Given the description of an element on the screen output the (x, y) to click on. 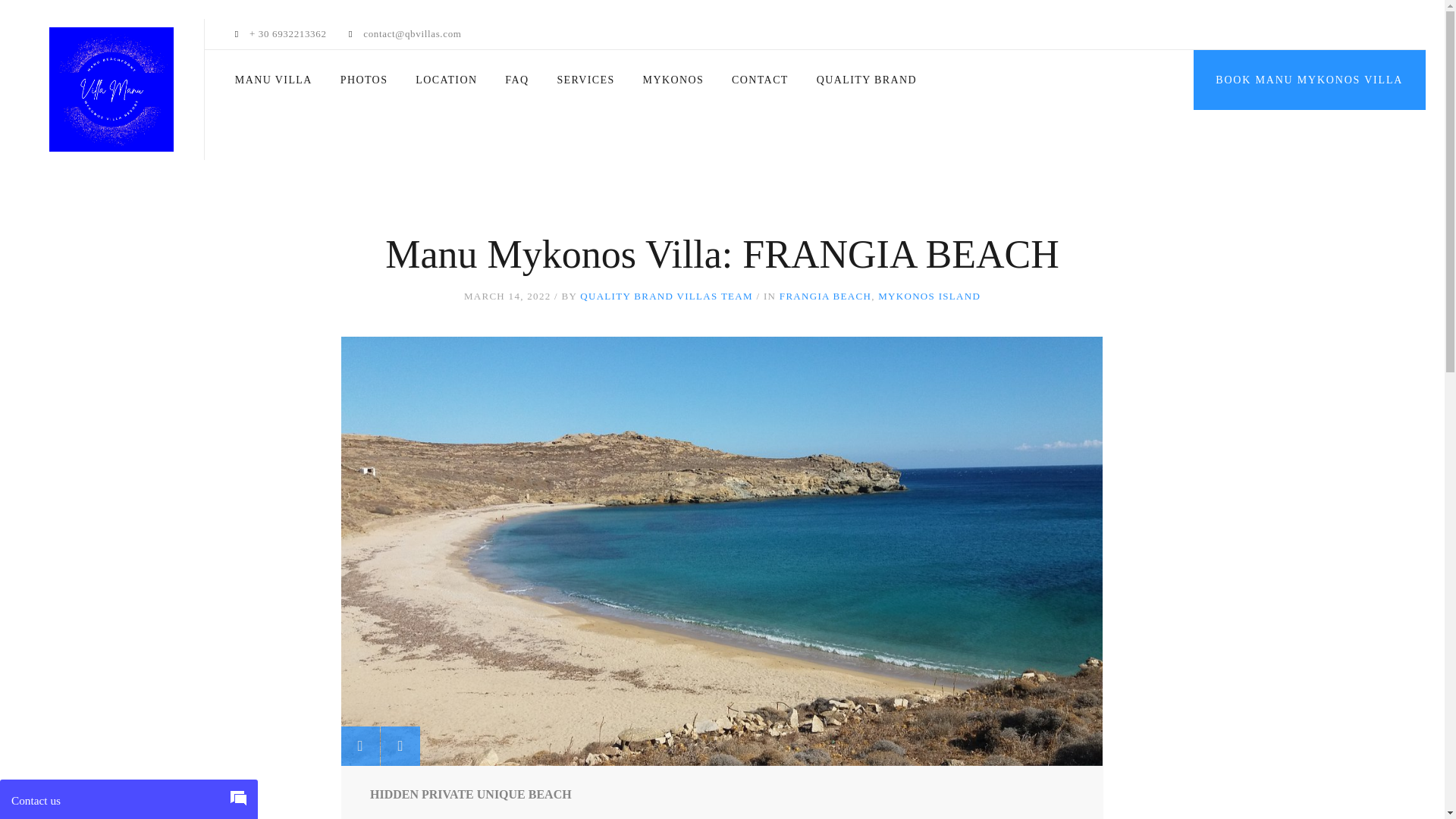
MANU VILLA (273, 79)
MYKONOS ISLAND (928, 296)
SERVICES (585, 79)
QUALITY BRAND VILLAS TEAM (665, 296)
QUALITY BRAND (866, 79)
BOOK MANU MYKONOS VILLA (1309, 79)
MYKONOS (673, 79)
FRANGIA BEACH (824, 296)
LOCATION (445, 79)
CONTACT (760, 79)
